Given the description of an element on the screen output the (x, y) to click on. 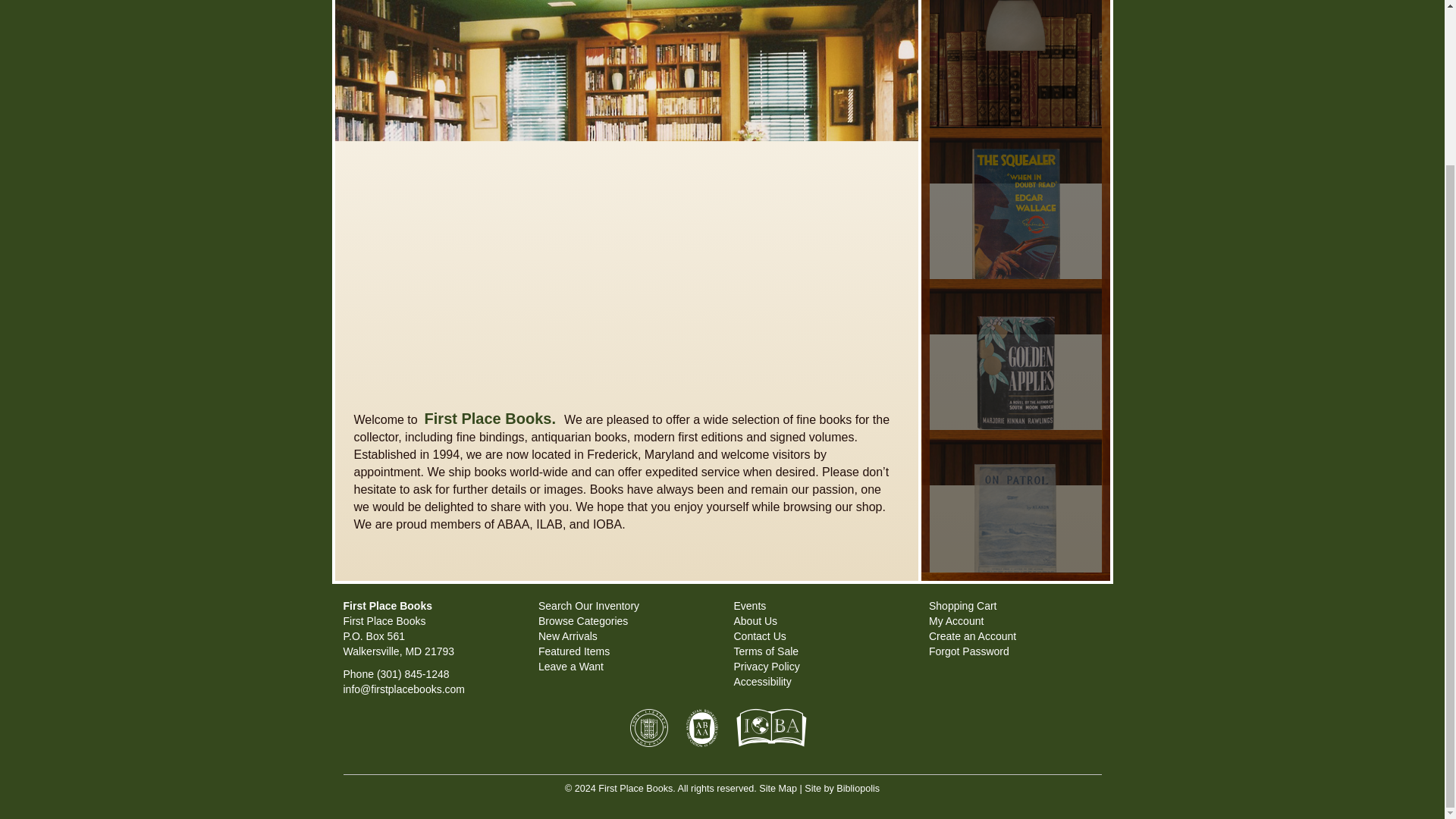
Create an Account (972, 635)
Search Our Inventory (588, 605)
Leave a Want (571, 666)
Events (750, 605)
Browse Categories (582, 621)
Accessibility (762, 681)
Site Map (777, 787)
Terms of Sale (766, 651)
Forgot Password (968, 651)
About Us (755, 621)
Shopping Cart (962, 605)
Contact Us (759, 635)
New Arrivals (567, 635)
Featured Items (574, 651)
Site by Bibliopolis (842, 787)
